Given the description of an element on the screen output the (x, y) to click on. 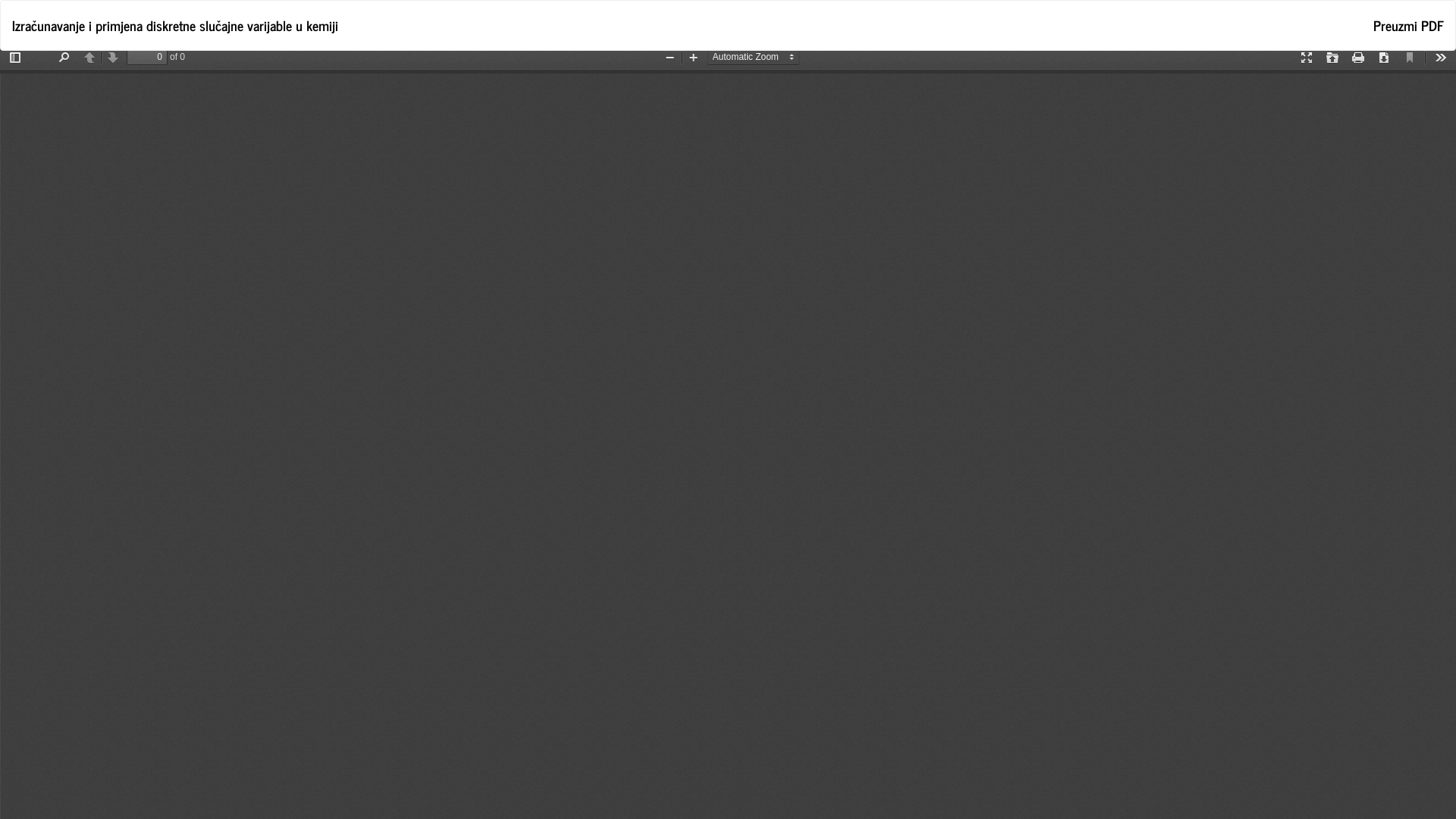
Preuzmi fajl
Preuzmi PDF Element type: text (1408, 25)
